Given the description of an element on the screen output the (x, y) to click on. 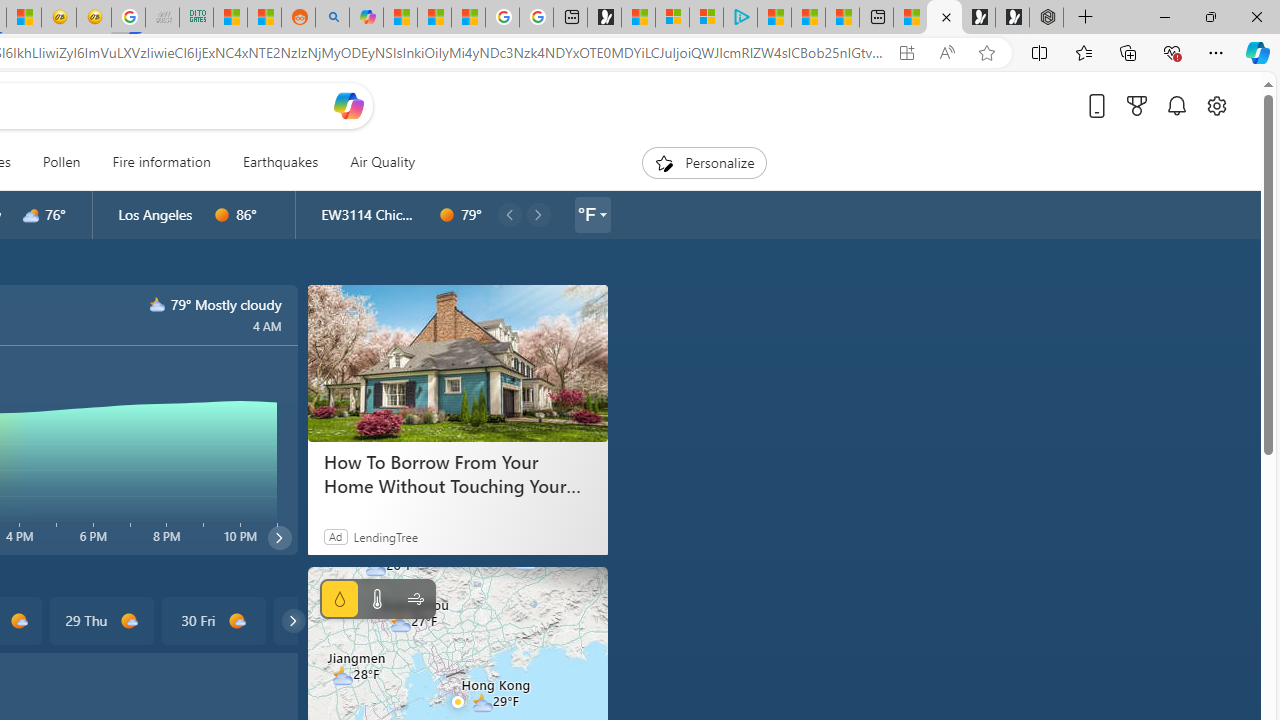
d3000 (31, 215)
Wind (414, 599)
These 3 Stocks Pay You More Than 5% to Own Them (841, 17)
App available. Install Microsoft Start Weather (906, 53)
Fire information (161, 162)
common/carouselChevron (293, 620)
